Given the description of an element on the screen output the (x, y) to click on. 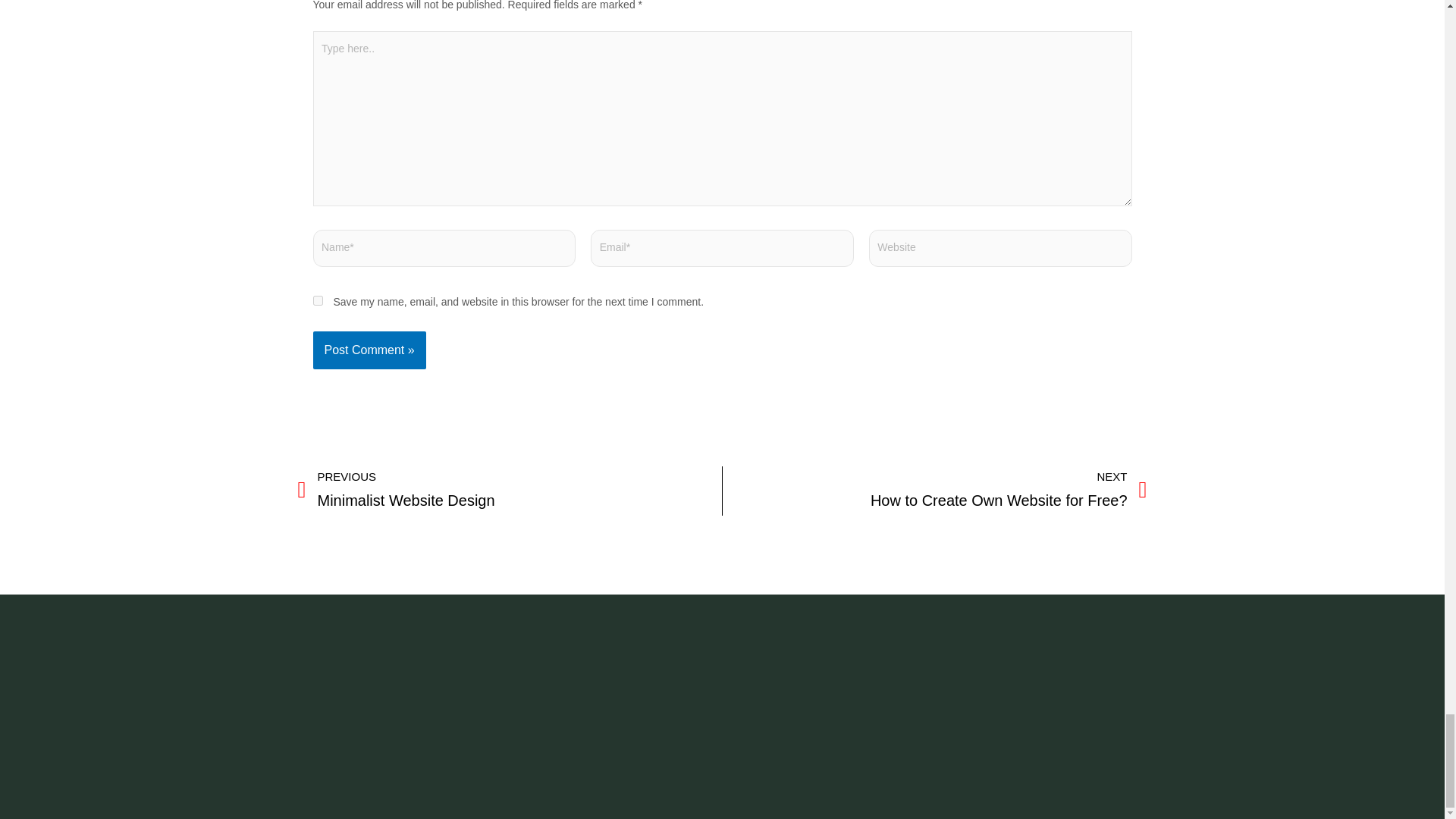
yes (509, 490)
